Given the description of an element on the screen output the (x, y) to click on. 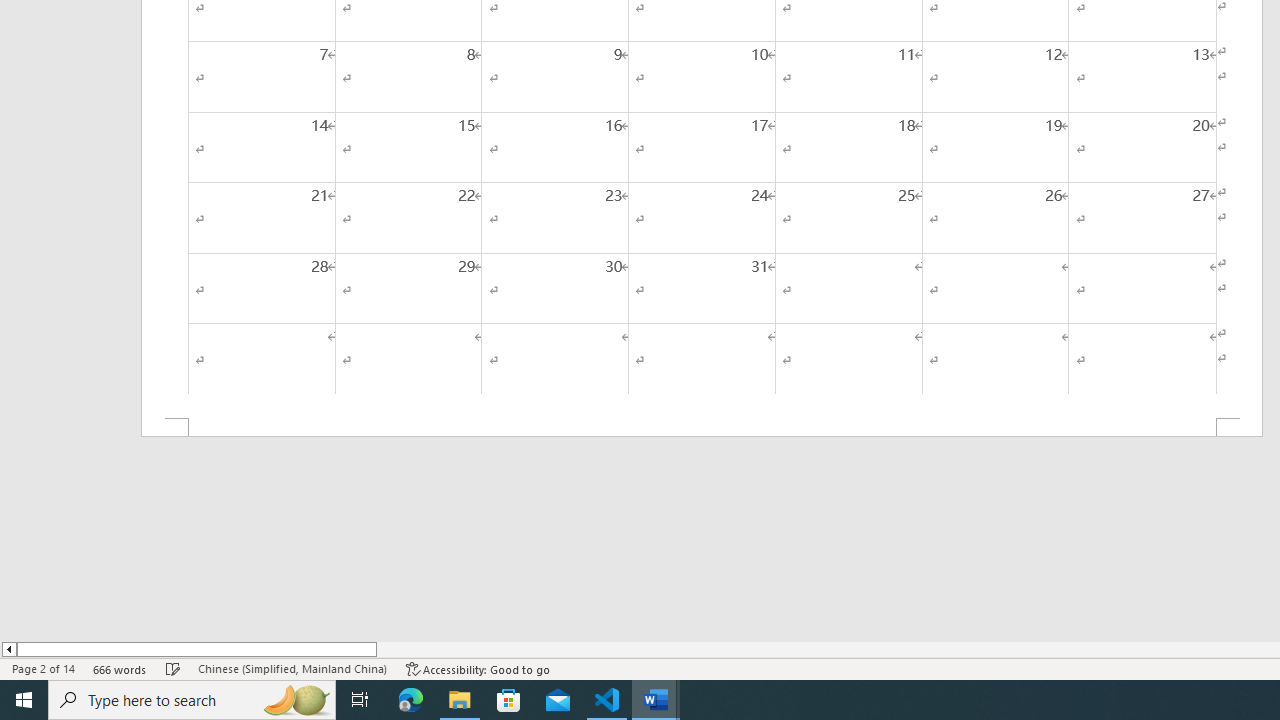
Word Count 666 words (119, 668)
Page Number Page 2 of 14 (43, 668)
Accessibility Checker Accessibility: Good to go (478, 668)
Footer -Section 1- (701, 427)
Language Chinese (Simplified, Mainland China) (292, 668)
Column left (8, 649)
Spelling and Grammar Check Checking (173, 668)
